Given the description of an element on the screen output the (x, y) to click on. 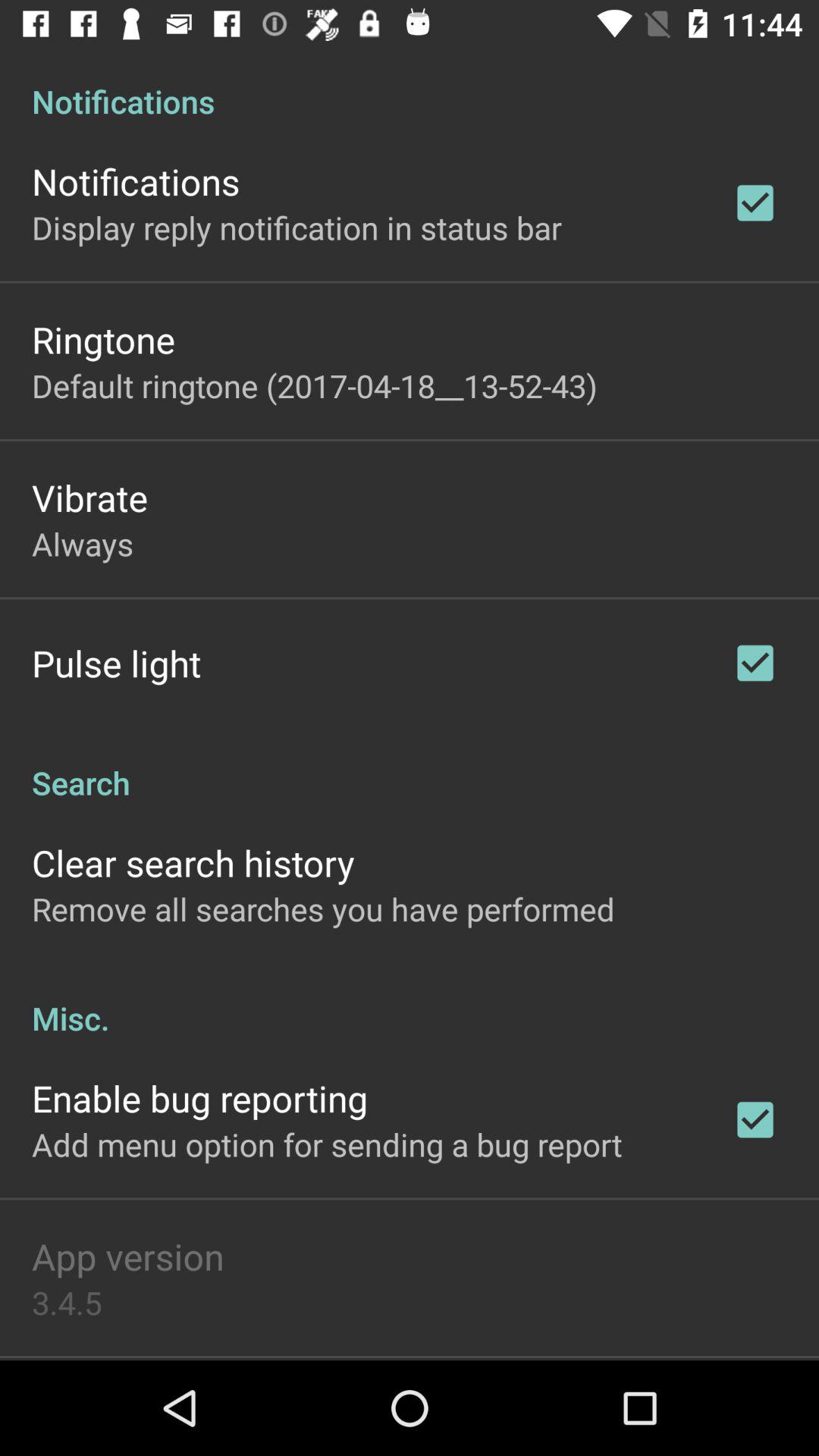
flip to the always icon (82, 543)
